Given the description of an element on the screen output the (x, y) to click on. 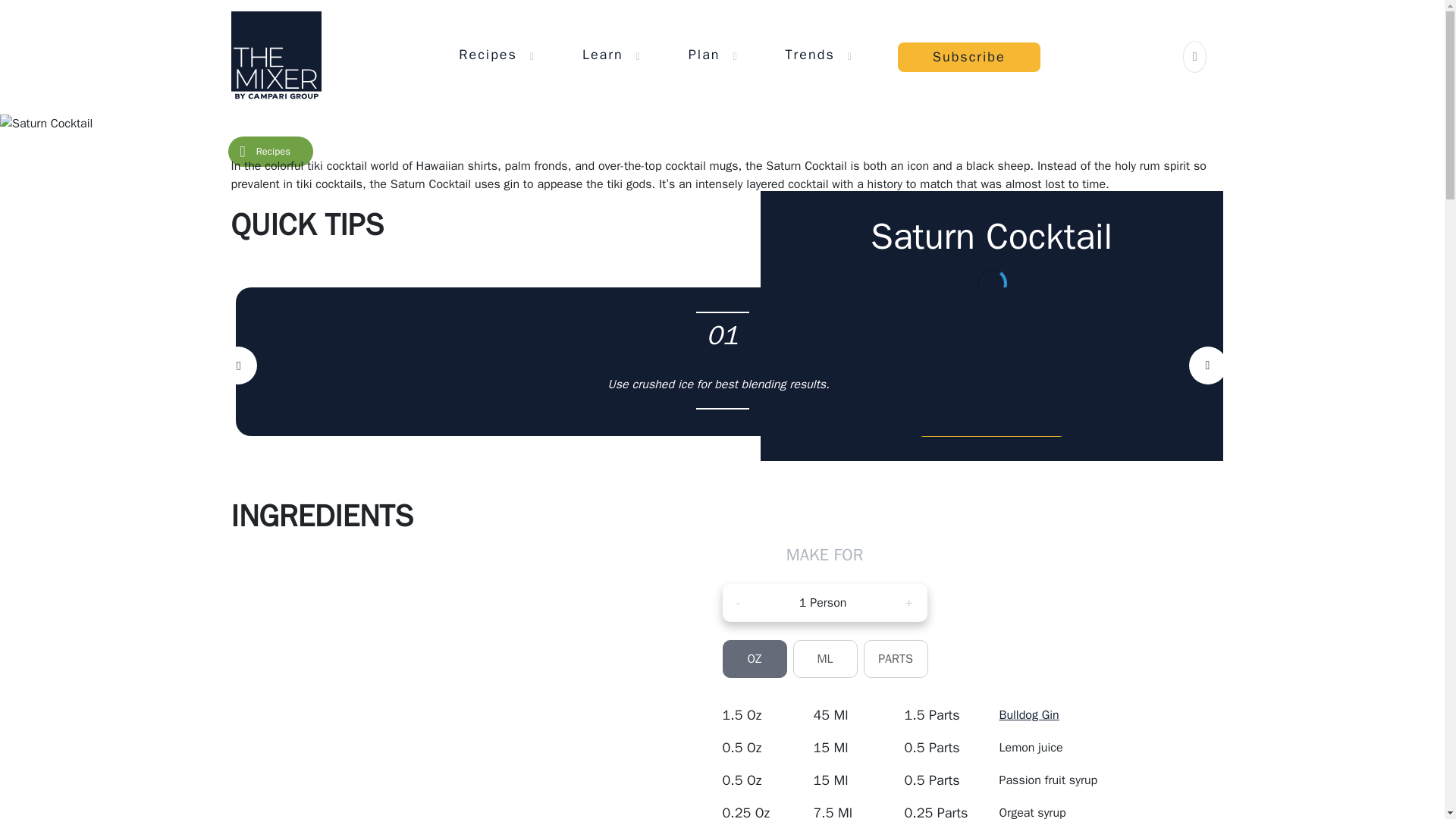
Open link in new tab (1028, 714)
The Mixer (275, 56)
Plan (704, 53)
Search Opener (1195, 56)
The Mixer (275, 56)
Trends (809, 53)
Learn (602, 53)
Recipes (487, 53)
